Given the description of an element on the screen output the (x, y) to click on. 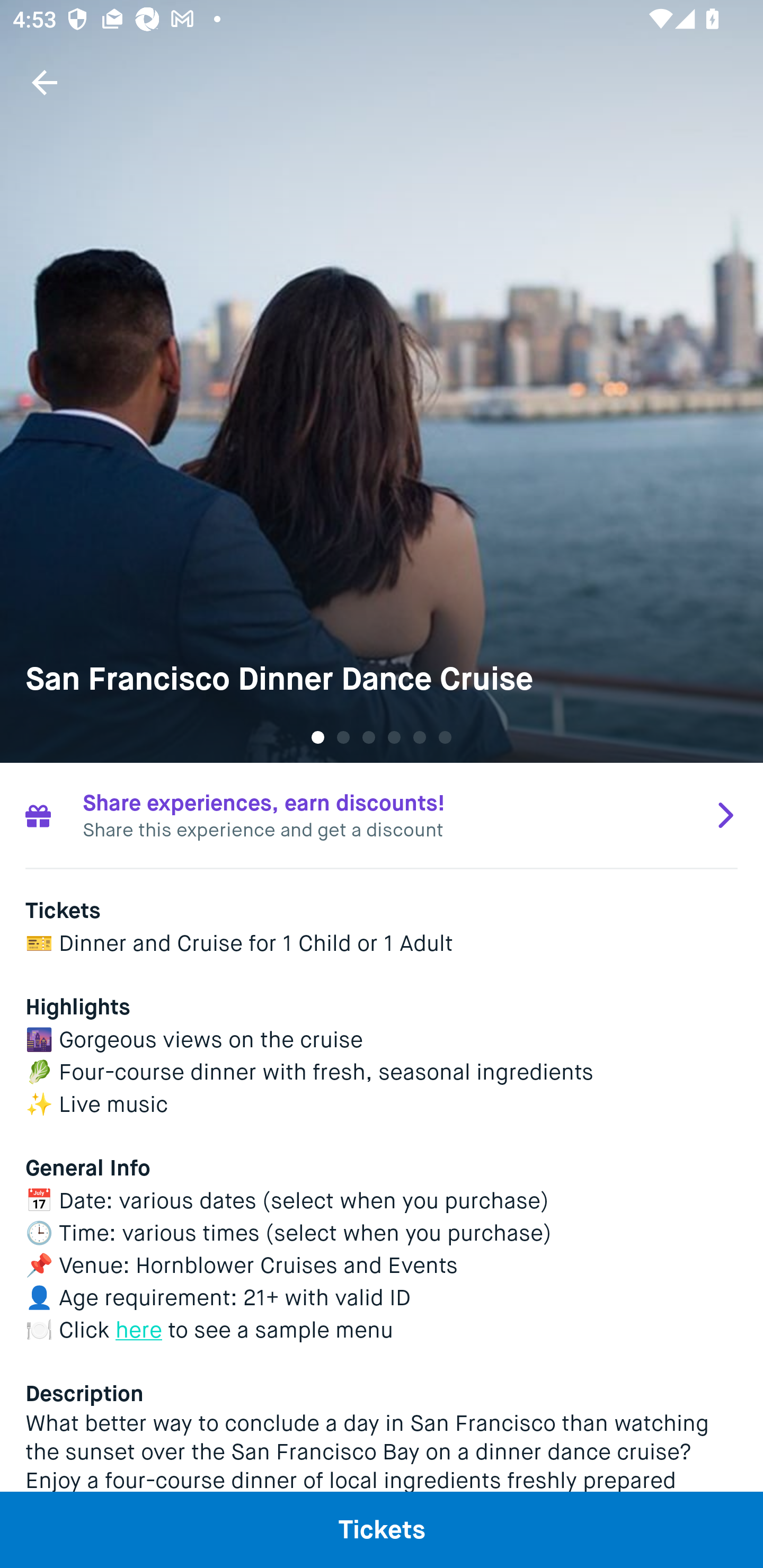
Navigate up (44, 82)
Tickets (381, 1529)
